Given the description of an element on the screen output the (x, y) to click on. 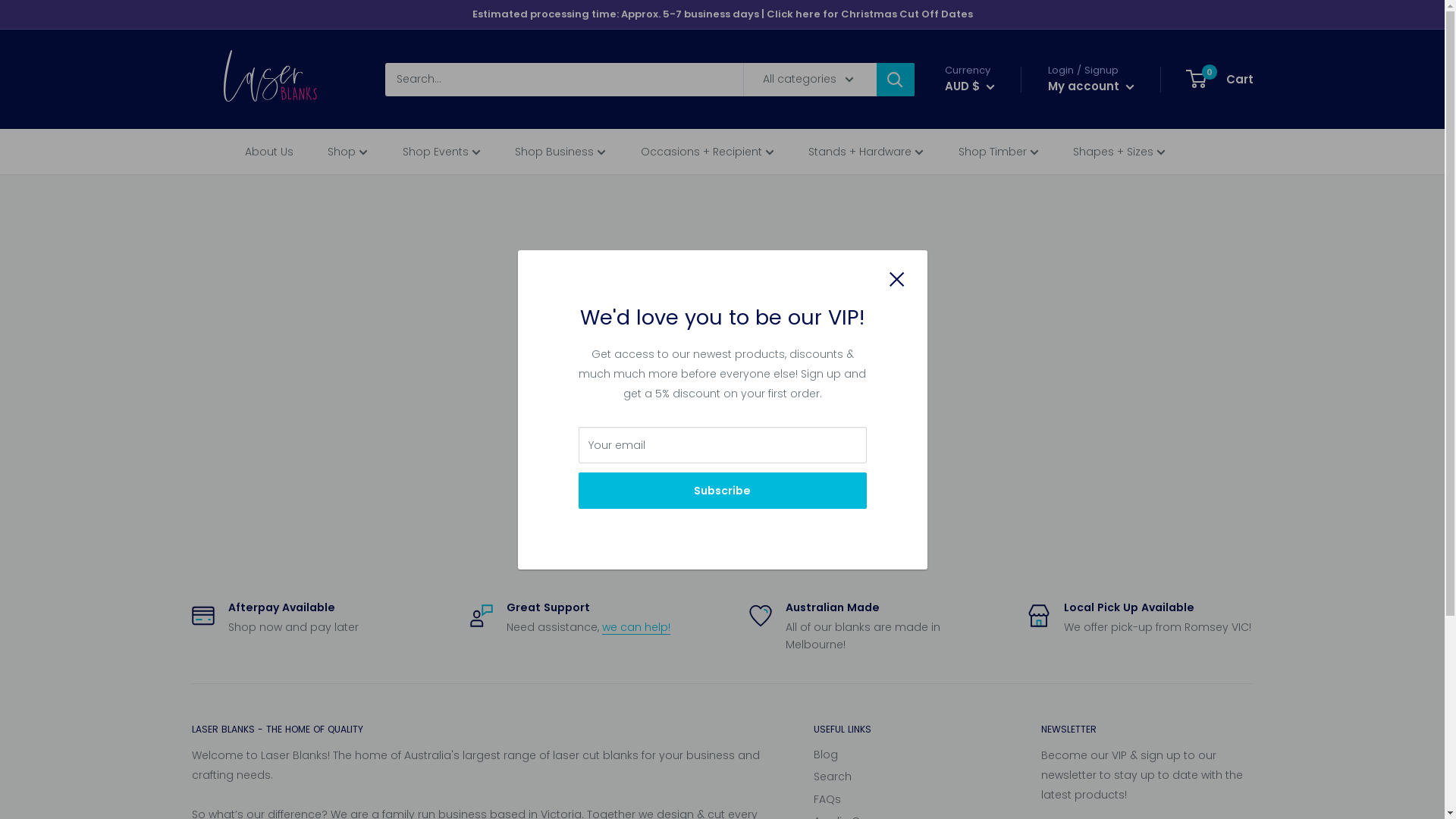
About Us Element type: text (280, 151)
Stands + Hardware Element type: text (877, 151)
we can help! Element type: text (636, 626)
Blog Element type: text (899, 754)
USEFUL LINKS Element type: text (899, 729)
Shop Business Element type: text (571, 151)
Click here to continue shopping Element type: text (721, 459)
AUD Element type: text (980, 126)
Subscribe Element type: text (721, 489)
USD Element type: text (980, 187)
Occasions + Recipient Element type: text (718, 151)
NZD Element type: text (980, 167)
LASER BLANKS - THE HOME OF QUALITY Element type: text (475, 729)
AUD $ Element type: text (969, 86)
HKD Element type: text (980, 146)
Search Element type: text (899, 776)
Shop Timber Element type: text (1010, 151)
Shop Element type: text (359, 151)
My account Element type: text (1091, 86)
0
Cart Element type: text (1220, 79)
Shop Events Element type: text (452, 151)
Shapes + Sizes Element type: text (1131, 151)
FAQs Element type: text (899, 799)
